Given the description of an element on the screen output the (x, y) to click on. 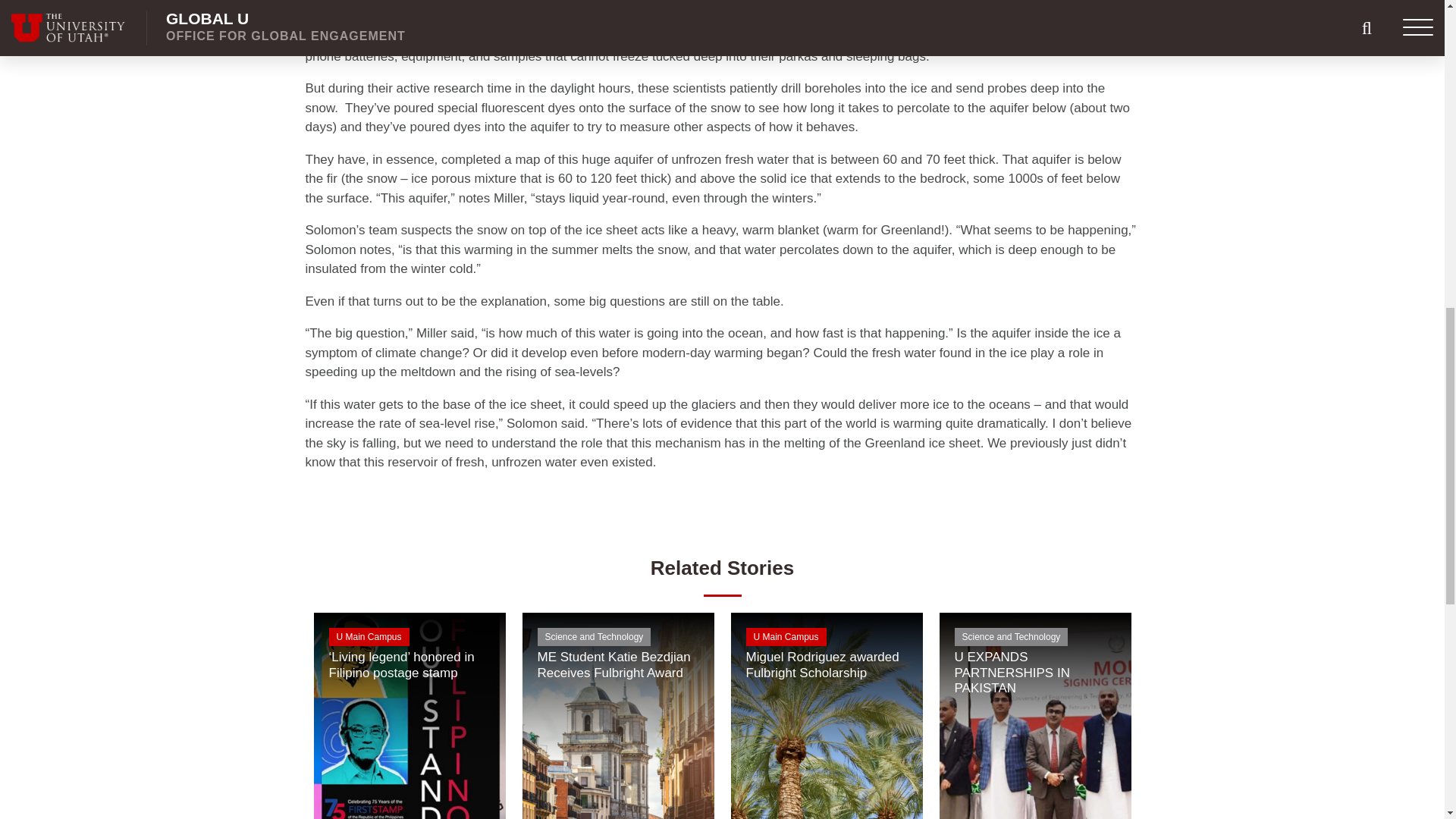
U Main Campus (409, 639)
